Given the description of an element on the screen output the (x, y) to click on. 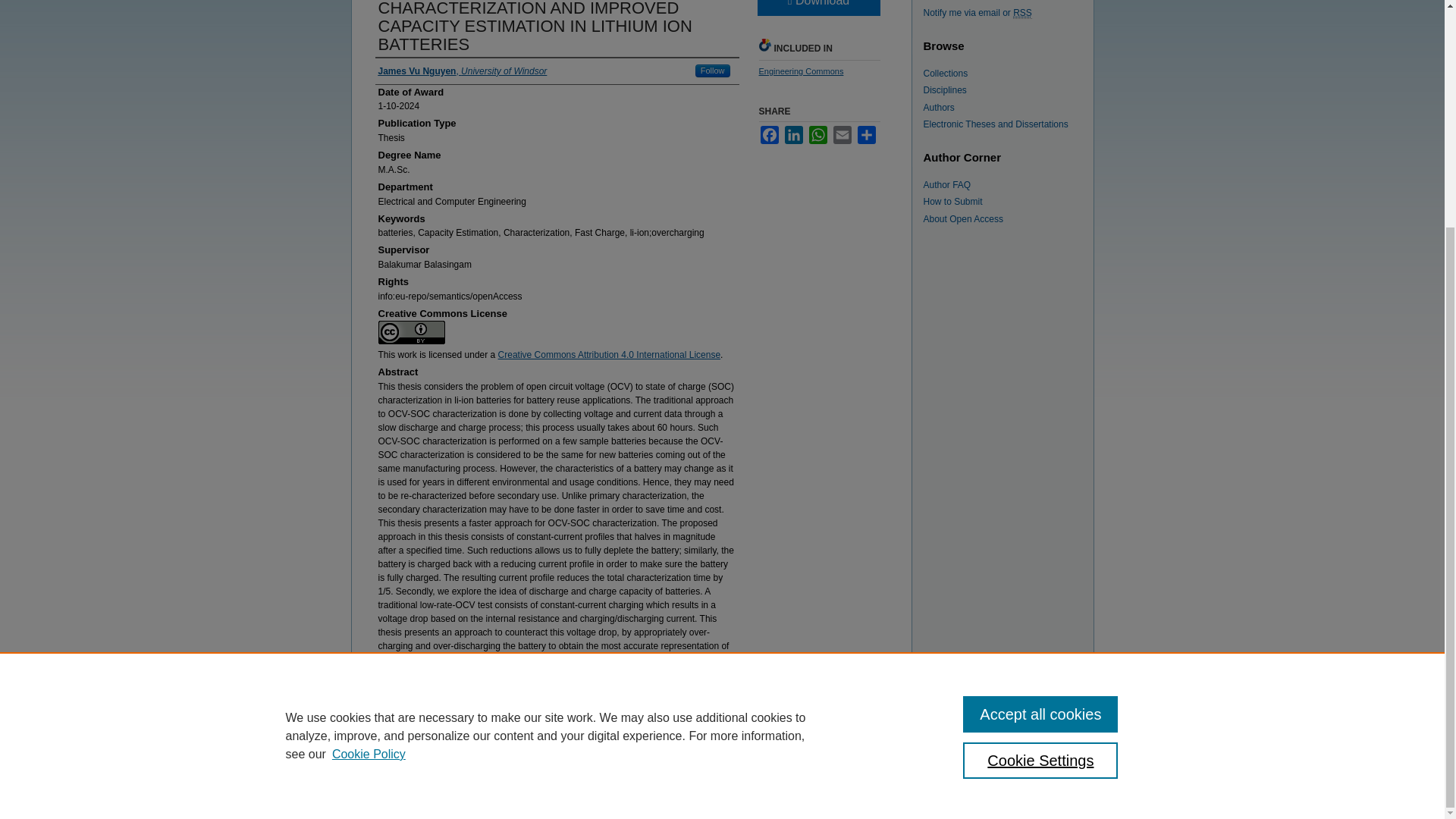
Engineering Commons (800, 71)
Share (866, 135)
Email or RSS Notifications (1008, 12)
Follow James Vu Nguyen (712, 70)
Follow (712, 70)
Notify me via email or RSS (1008, 12)
Creative Commons Attribution 4.0 International License (608, 354)
Email (841, 135)
Engineering Commons (800, 71)
LinkedIn (793, 135)
Really Simple Syndication (1022, 12)
WhatsApp (817, 135)
Download (818, 7)
Facebook (768, 135)
